Given the description of an element on the screen output the (x, y) to click on. 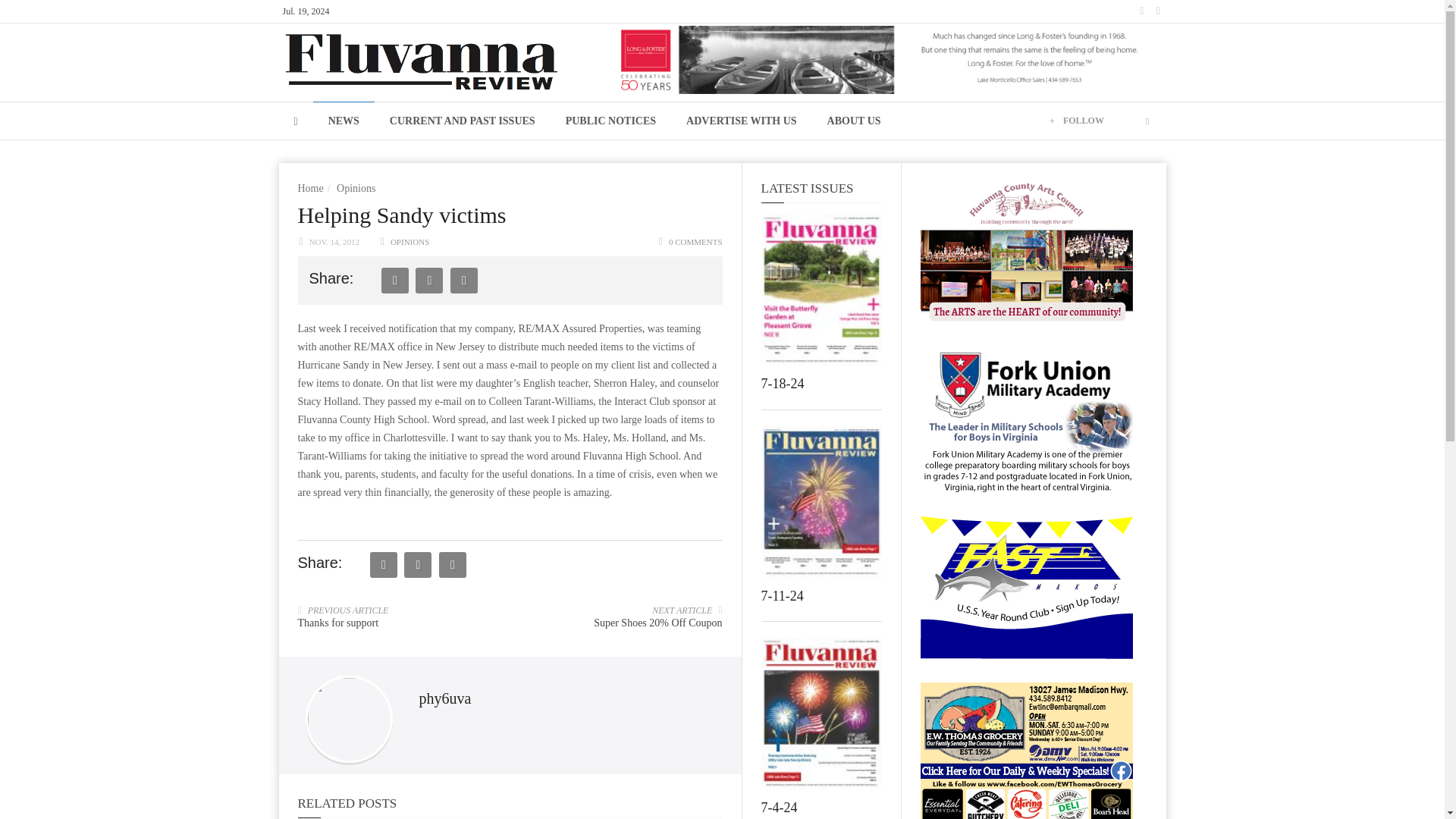
Thanks for support (337, 622)
Opinions (355, 188)
View all posts in Opinions (409, 241)
Posts by phy6uva (444, 698)
NEWS (343, 120)
